Given the description of an element on the screen output the (x, y) to click on. 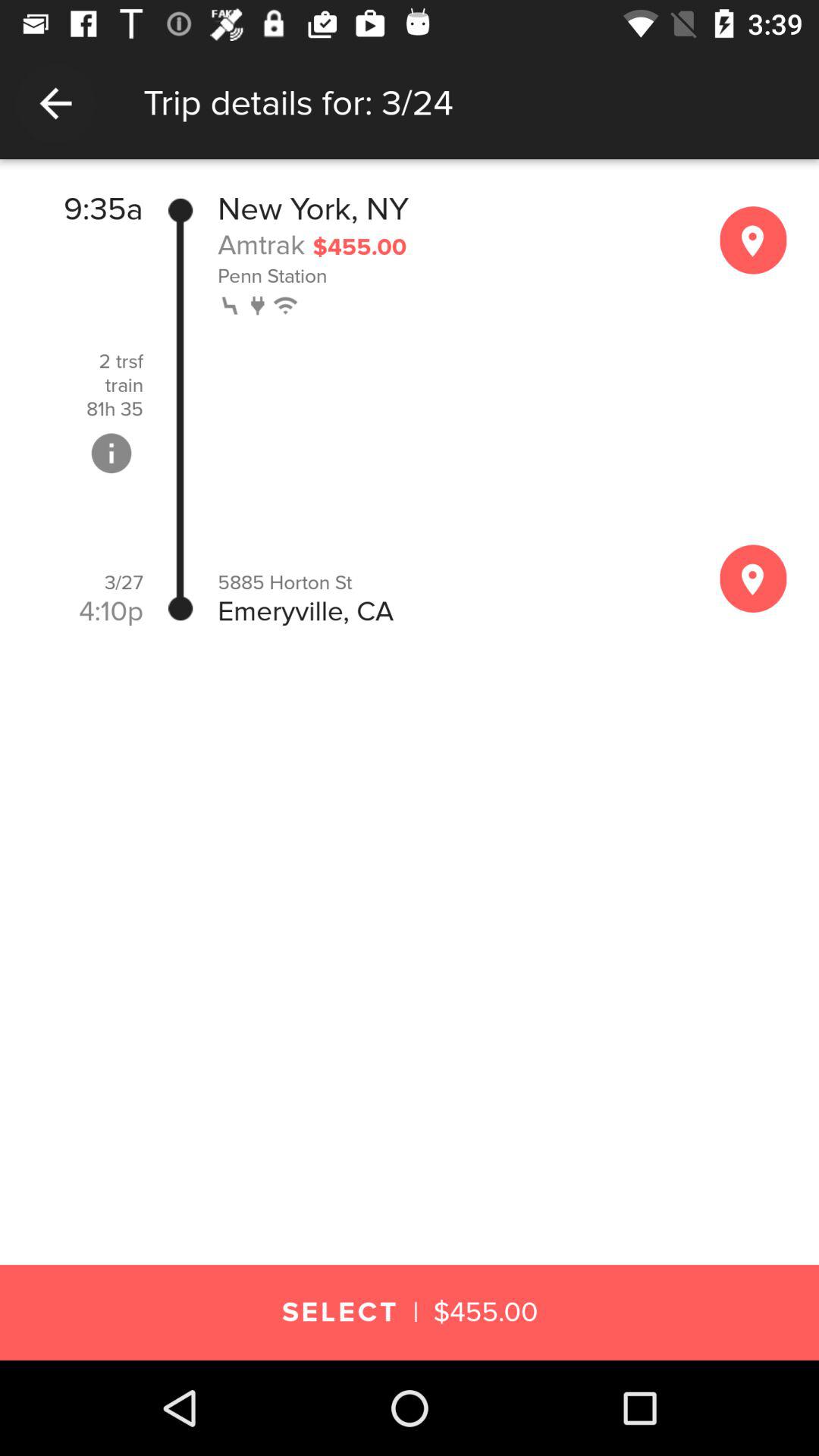
choose icon above the penn station icon (260, 244)
